Given the description of an element on the screen output the (x, y) to click on. 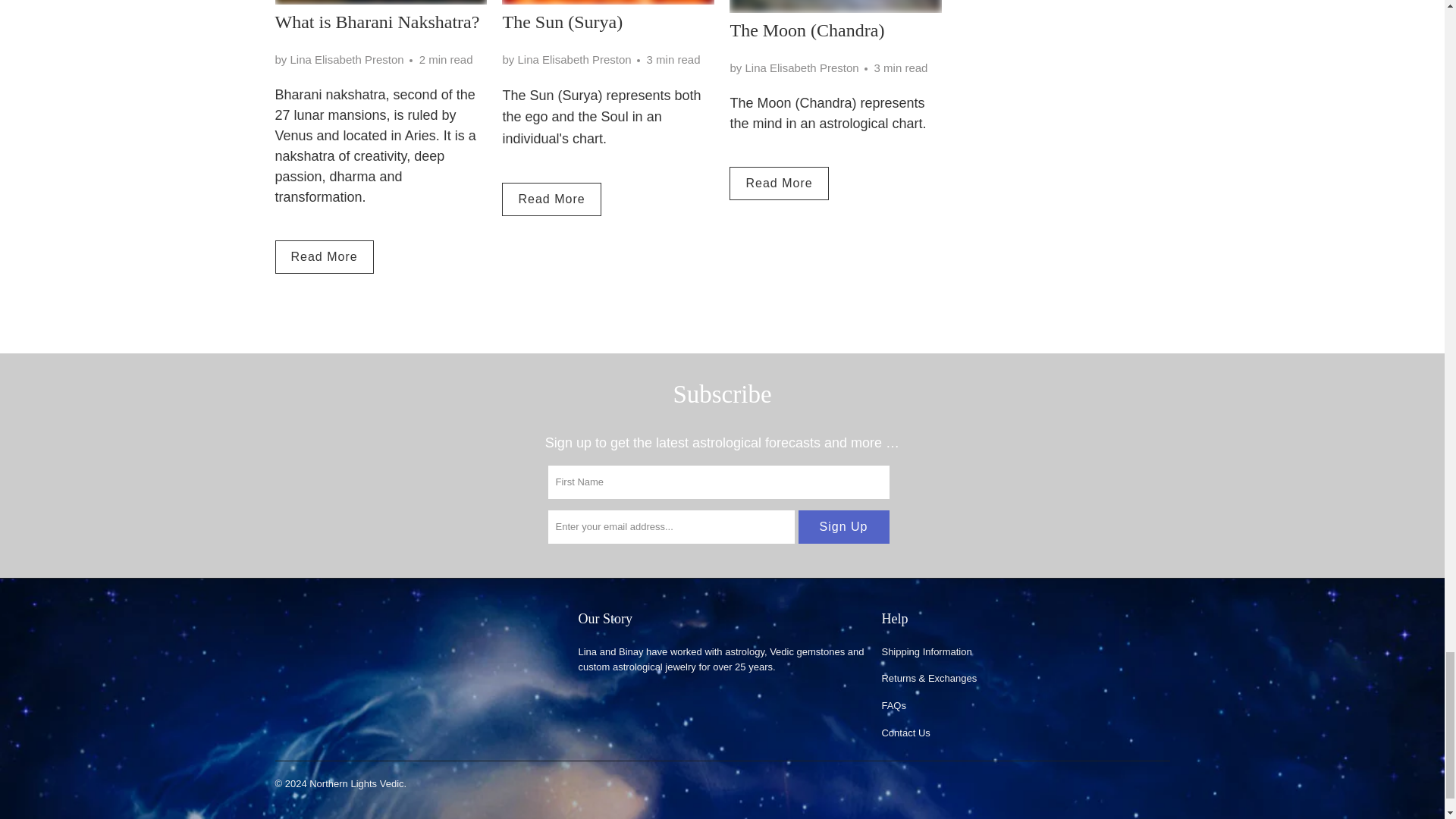
What is Bharani Nakshatra? (377, 21)
Sign Up (842, 526)
What is Bharani Nakshatra? (380, 2)
